Given the description of an element on the screen output the (x, y) to click on. 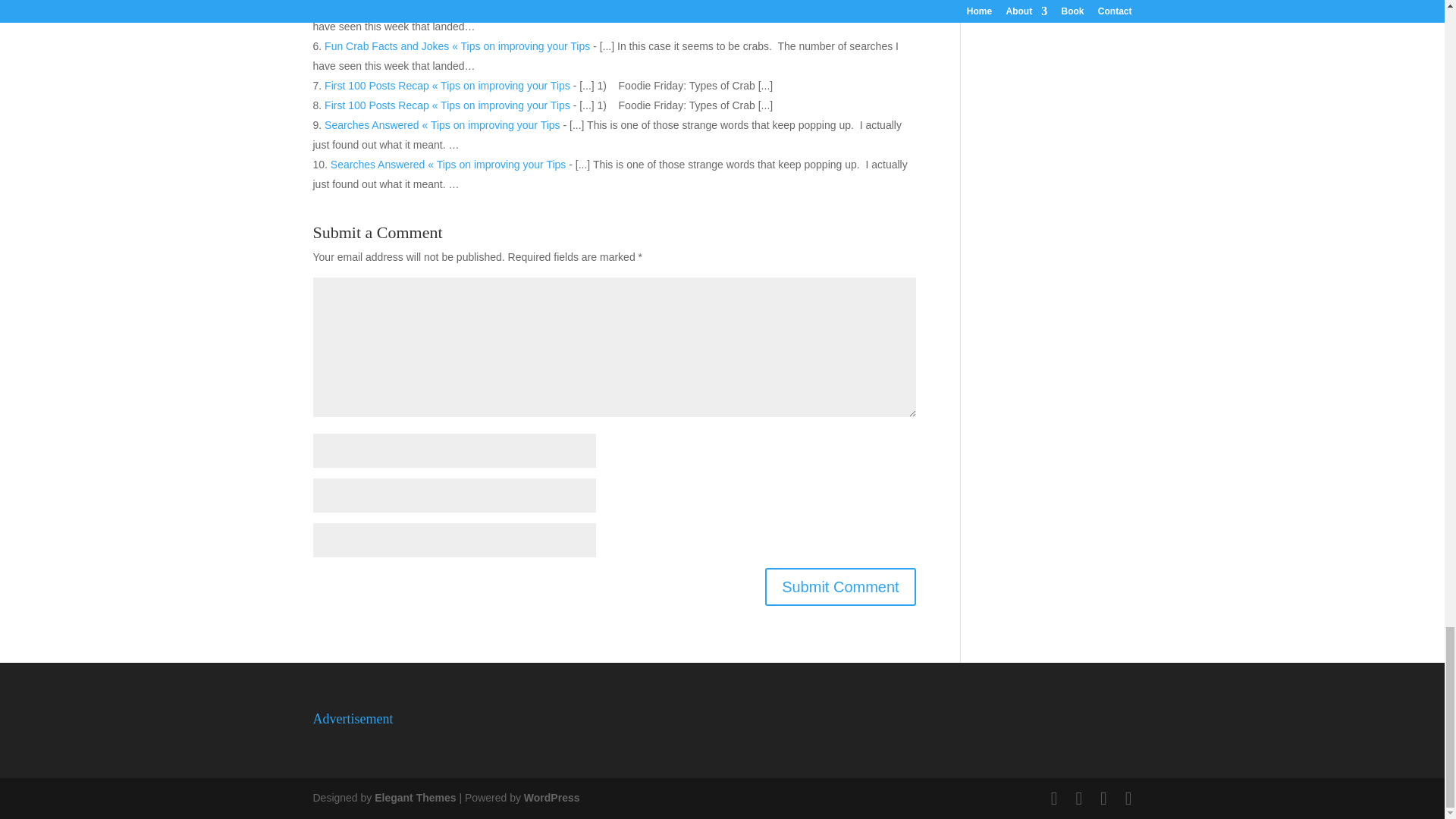
Premium WordPress Themes (414, 797)
Submit Comment (840, 587)
